Given the description of an element on the screen output the (x, y) to click on. 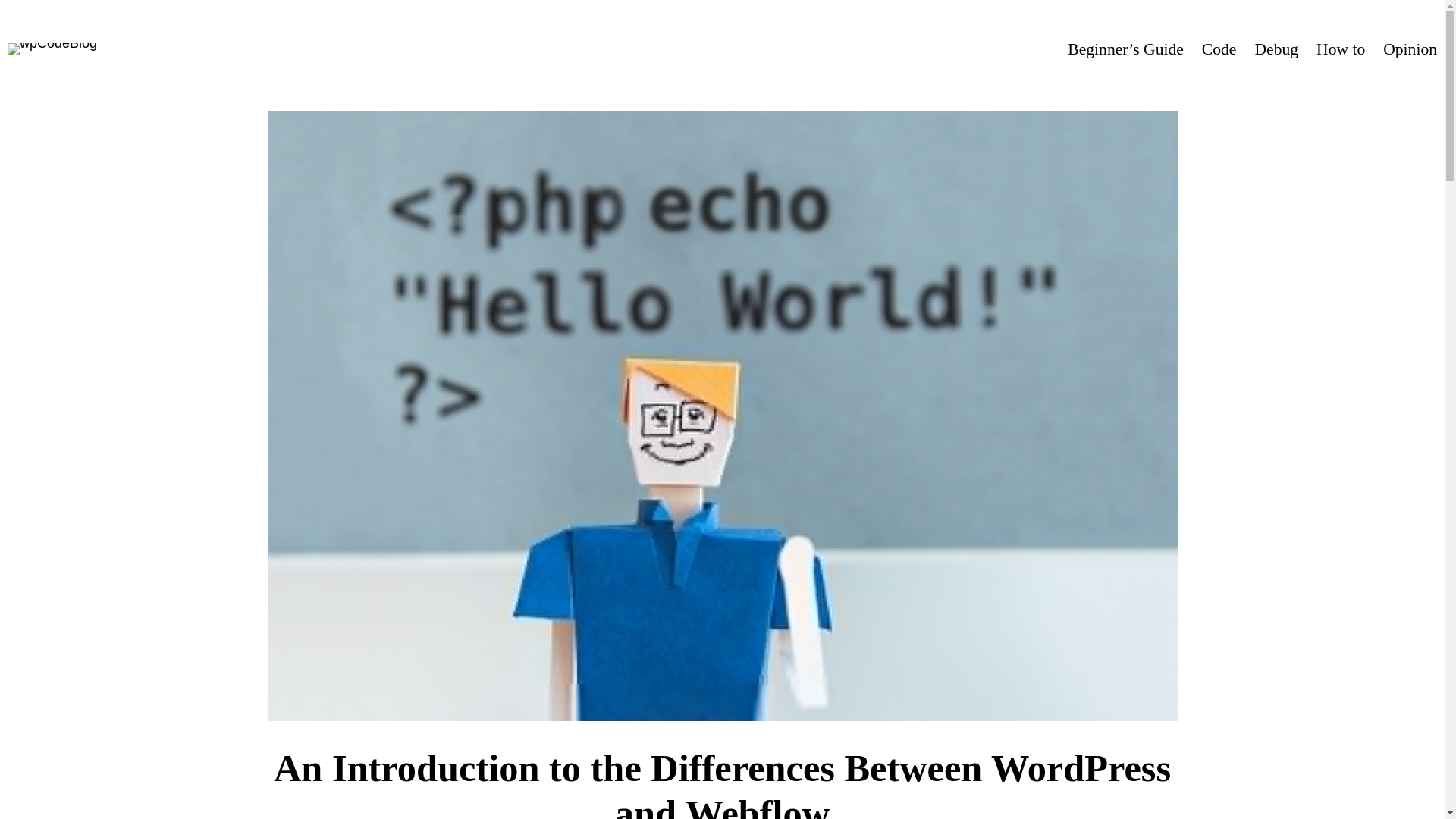
Code (1219, 49)
Debug (1275, 49)
Opinion (1410, 49)
How to (1340, 49)
